Given the description of an element on the screen output the (x, y) to click on. 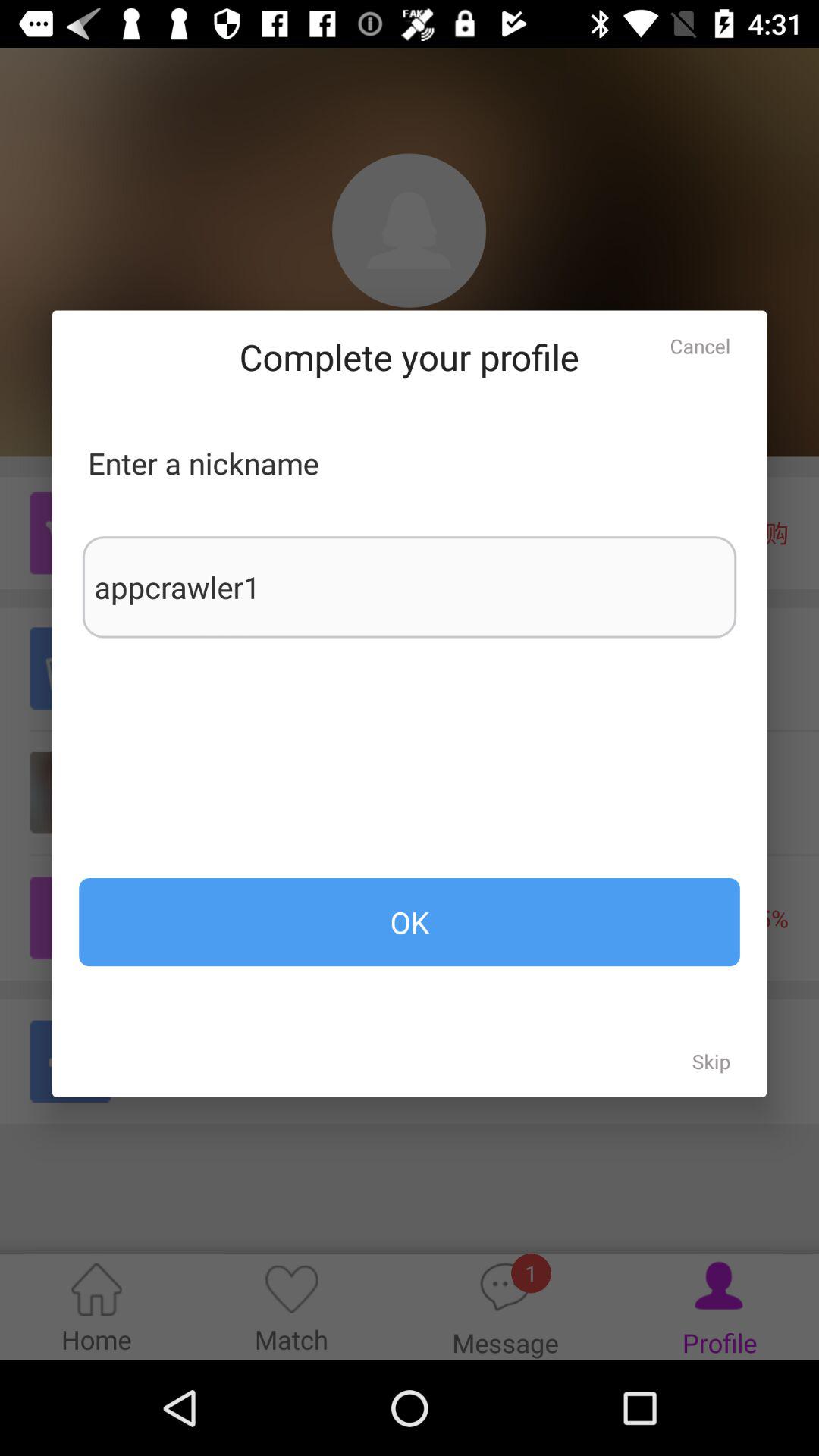
select icon below the enter a nickname item (409, 587)
